Given the description of an element on the screen output the (x, y) to click on. 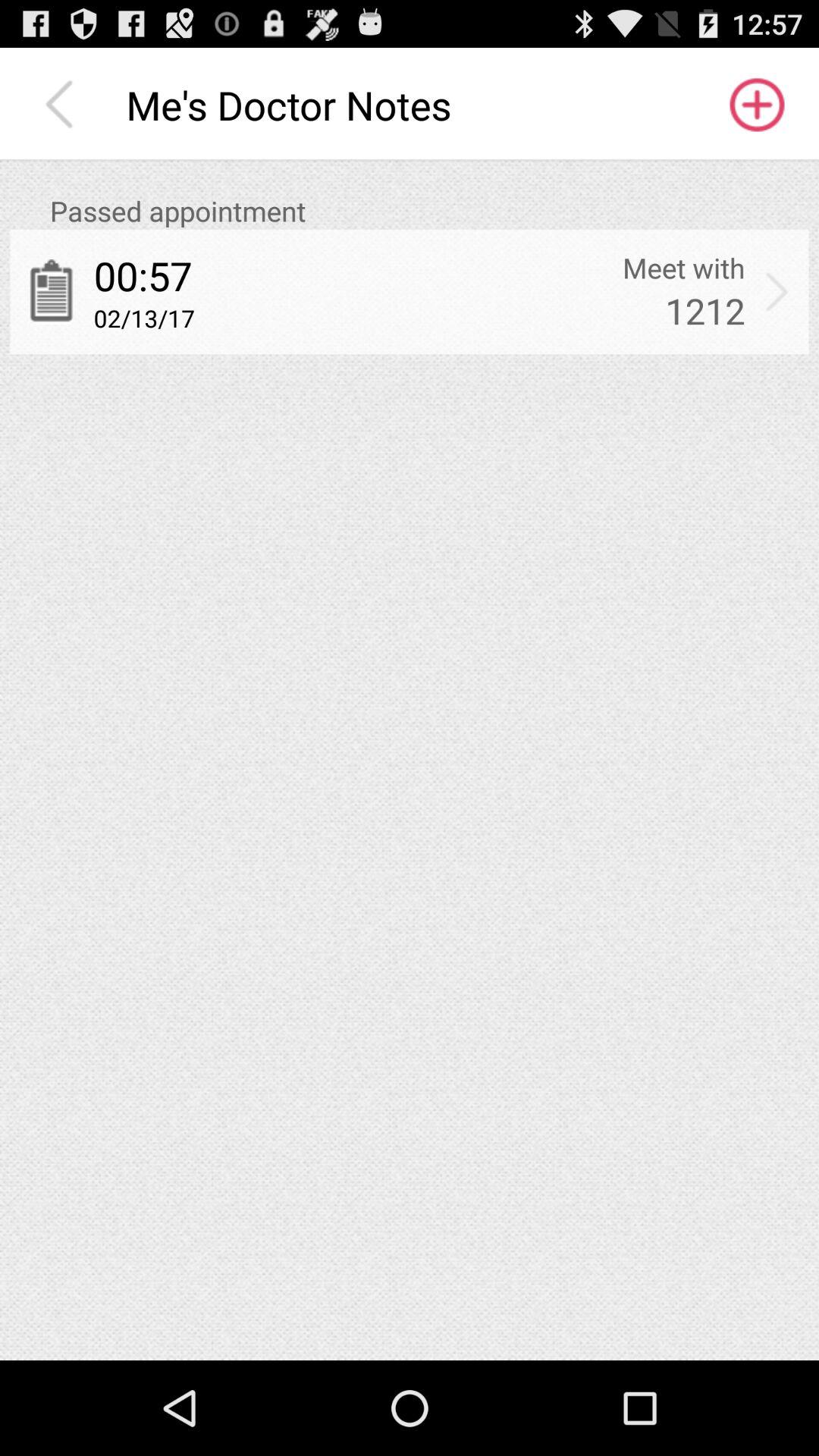
choose icon next to me s doctor icon (63, 104)
